Given the description of an element on the screen output the (x, y) to click on. 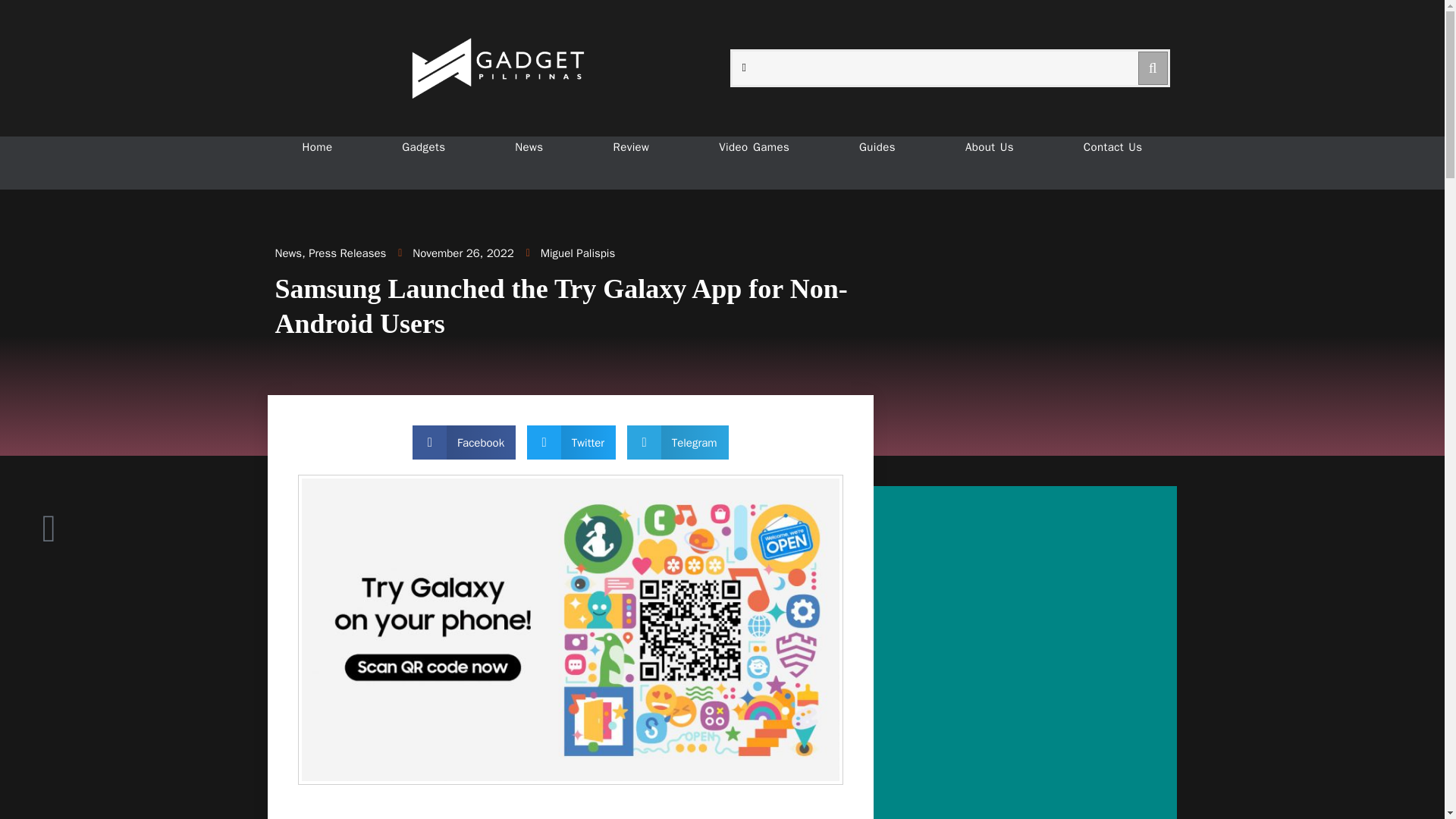
Contact Us (1112, 147)
News (288, 252)
Gadgets (423, 147)
November 26, 2022 (455, 252)
News (529, 147)
Home (316, 147)
About Us (989, 147)
Miguel Palispis (570, 252)
Review (631, 147)
Press Releases (346, 252)
